Given the description of an element on the screen output the (x, y) to click on. 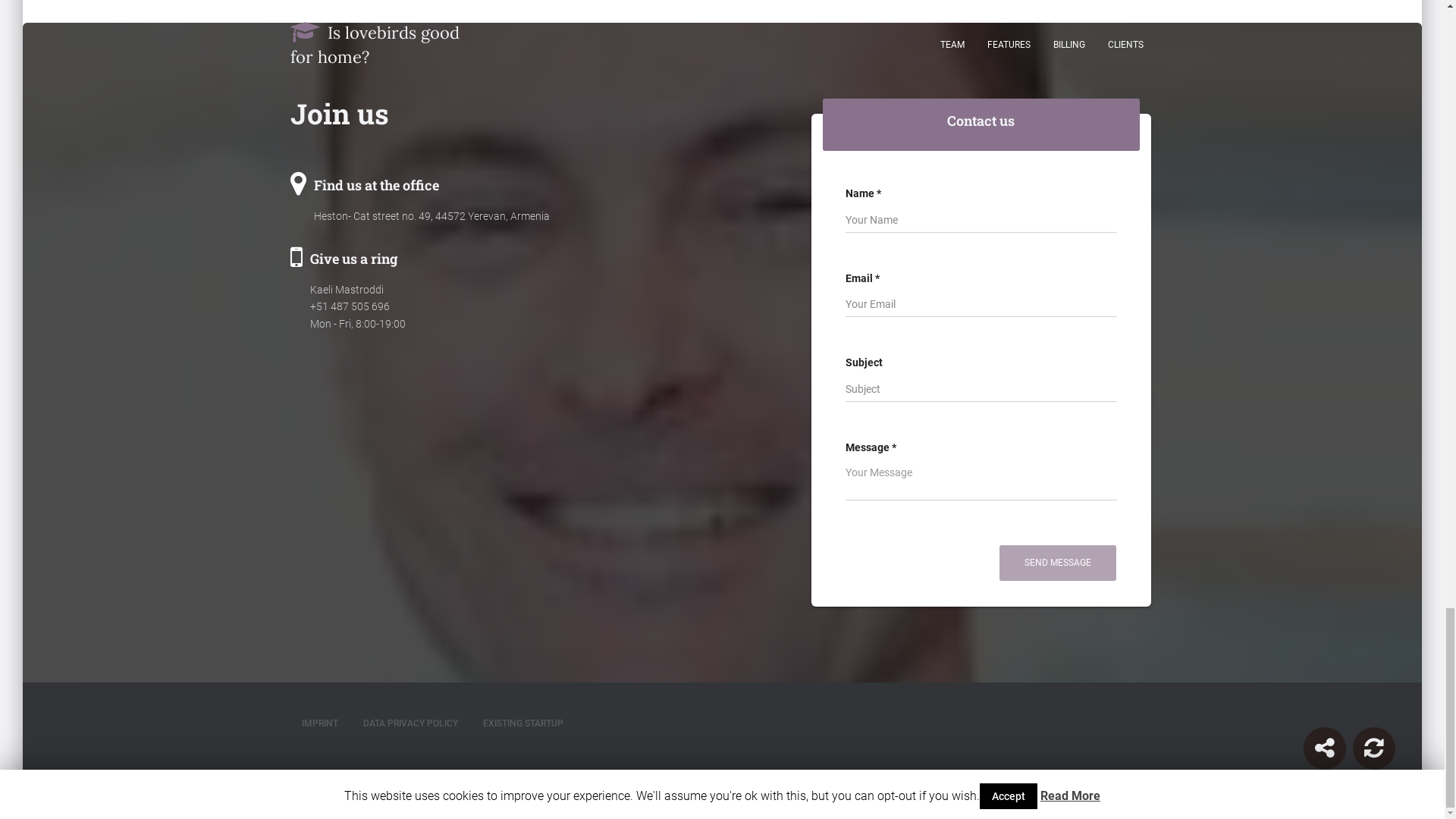
EXISTING STARTUP (523, 723)
DATA PRIVACY POLICY (410, 723)
SEND MESSAGE (1057, 562)
IMPRINT (319, 723)
